Given the description of an element on the screen output the (x, y) to click on. 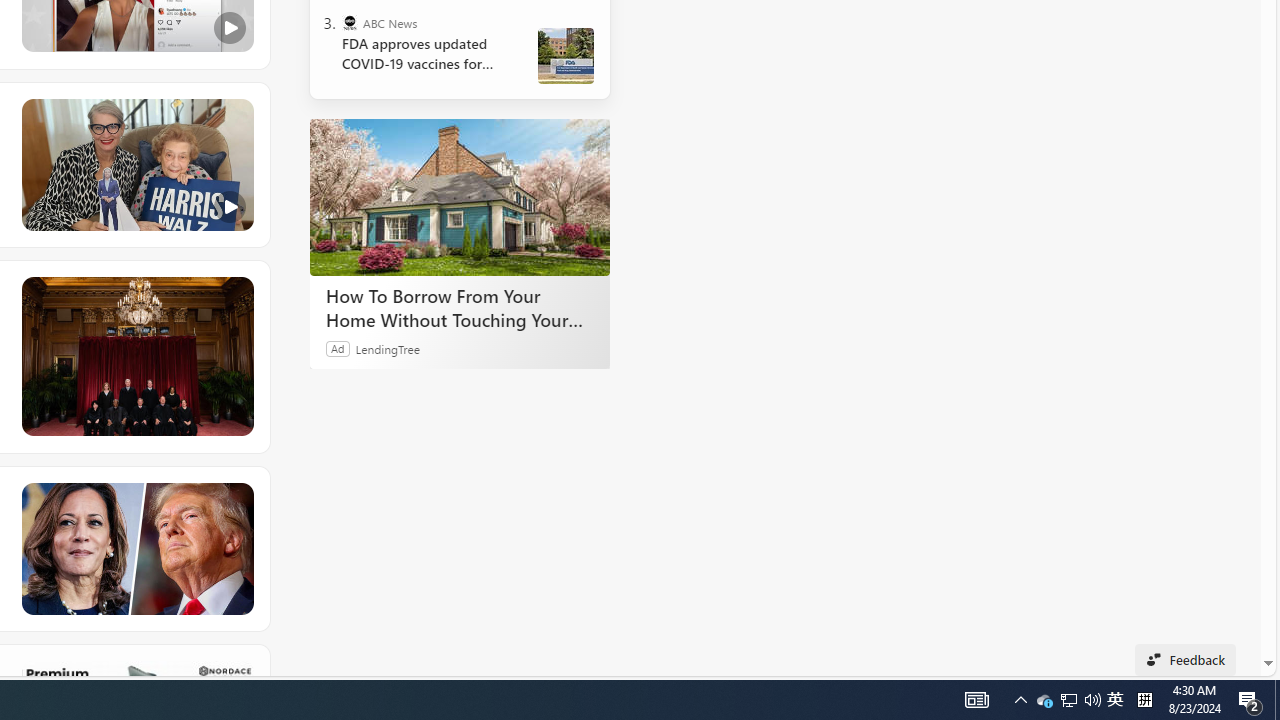
LendingTree (387, 348)
Class: hero-image (136, 165)
ABC News (349, 22)
